Given the description of an element on the screen output the (x, y) to click on. 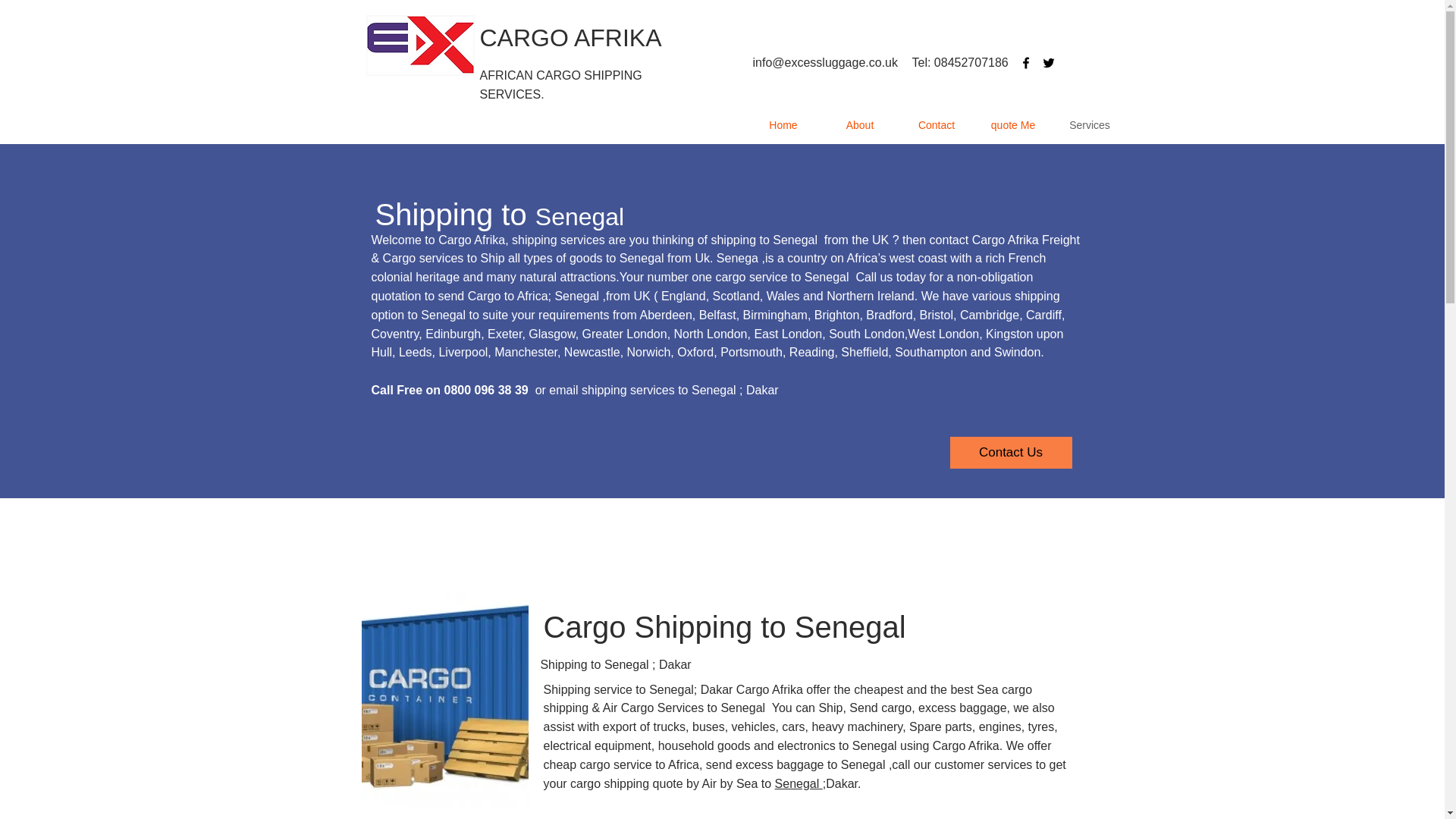
About (860, 125)
Contact (936, 125)
quote Me (1013, 125)
Services (1088, 125)
Home (782, 125)
CARGO AFRIKA (570, 37)
